Given the description of an element on the screen output the (x, y) to click on. 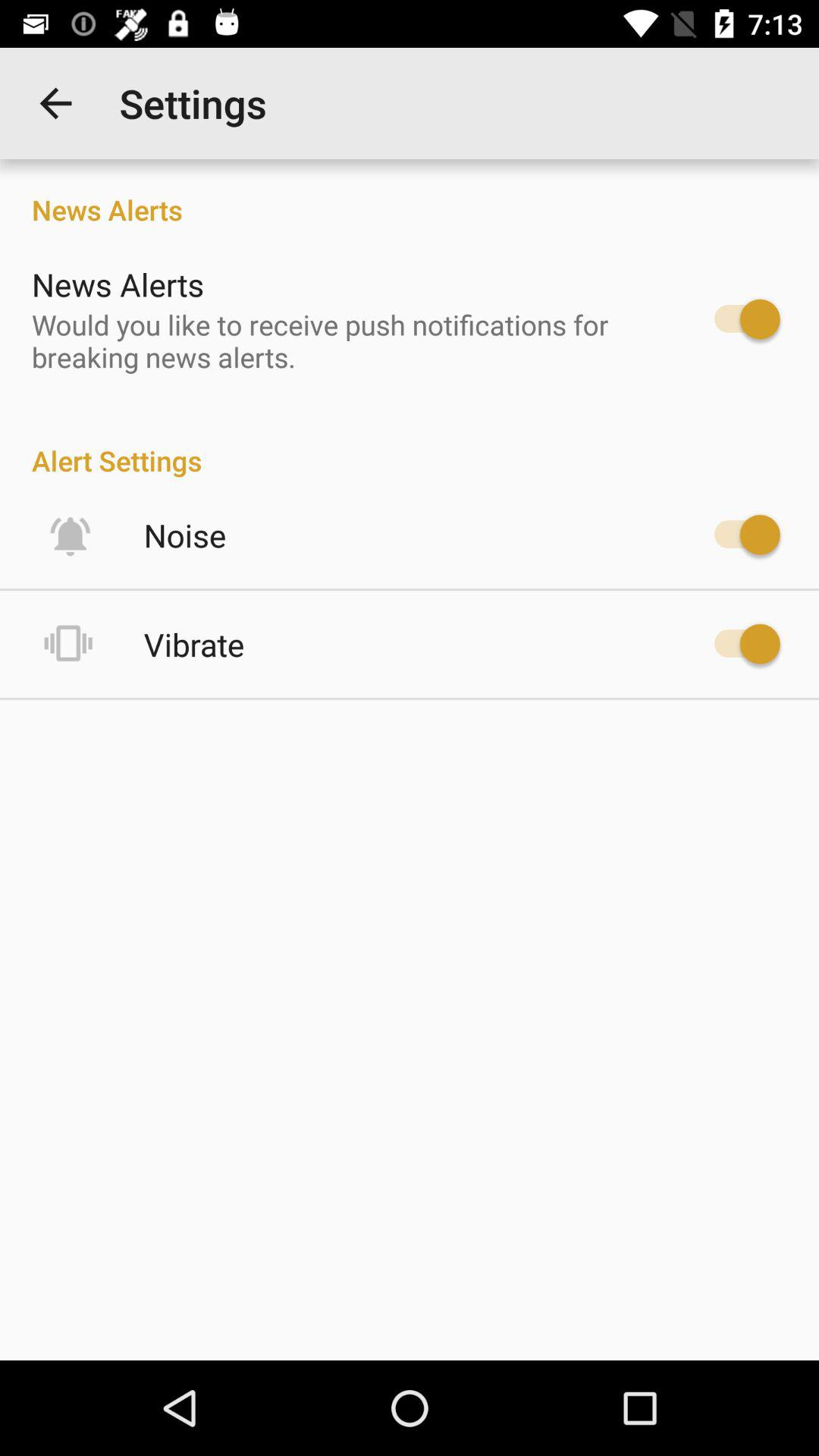
tap item to the left of settings  app (55, 103)
